Given the description of an element on the screen output the (x, y) to click on. 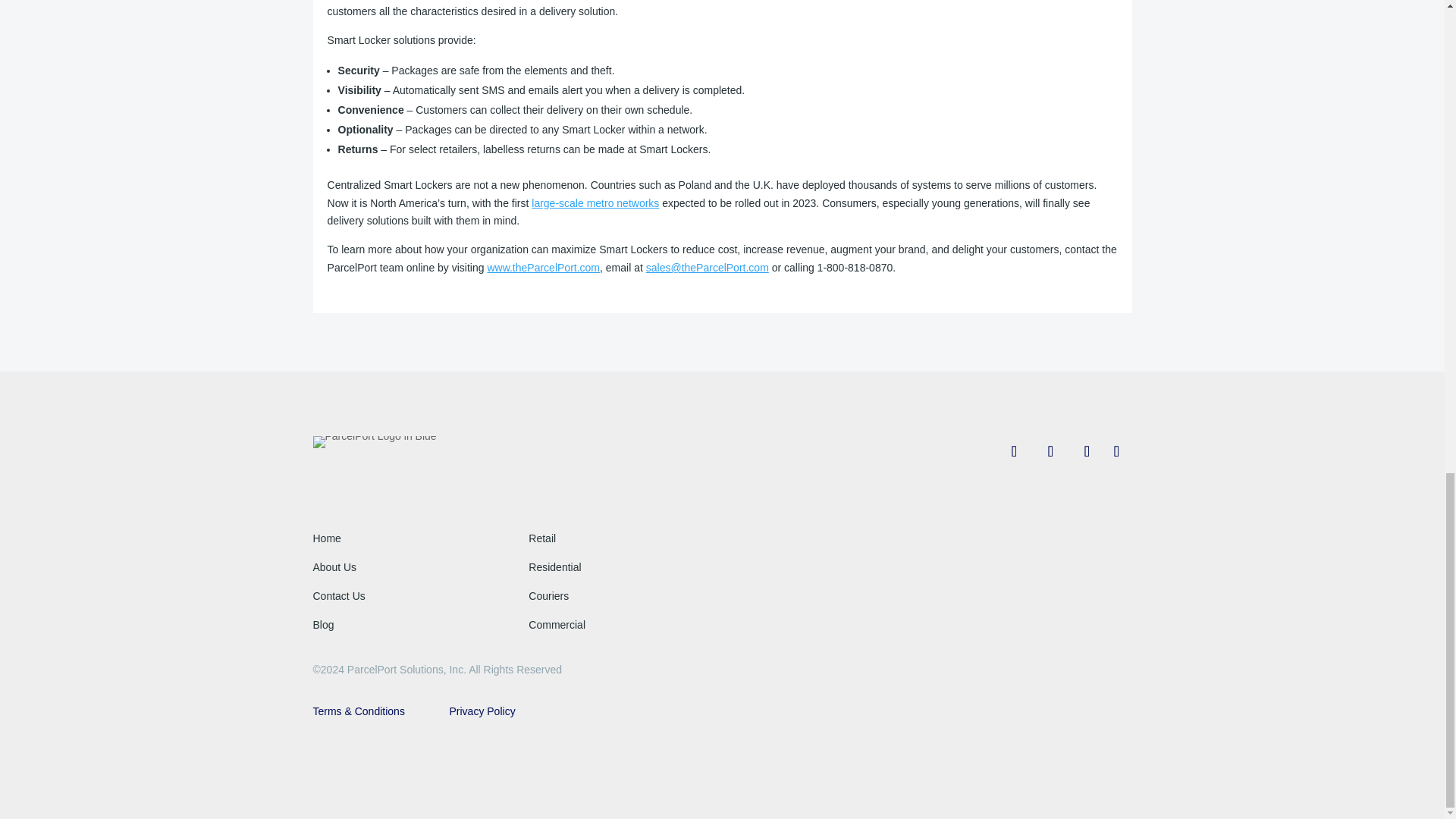
Follow on X (1050, 450)
Follow on LinkedIn (1115, 450)
Follow on Instagram (1086, 450)
www.theParcelPort.com (542, 267)
Home (326, 538)
About Us (334, 567)
large-scale metro networks (595, 203)
Blog (323, 624)
Residential (554, 567)
Commercial (556, 624)
Follow on Facebook (1013, 450)
Couriers (548, 595)
Contact Us (339, 595)
Retail (542, 538)
